Given the description of an element on the screen output the (x, y) to click on. 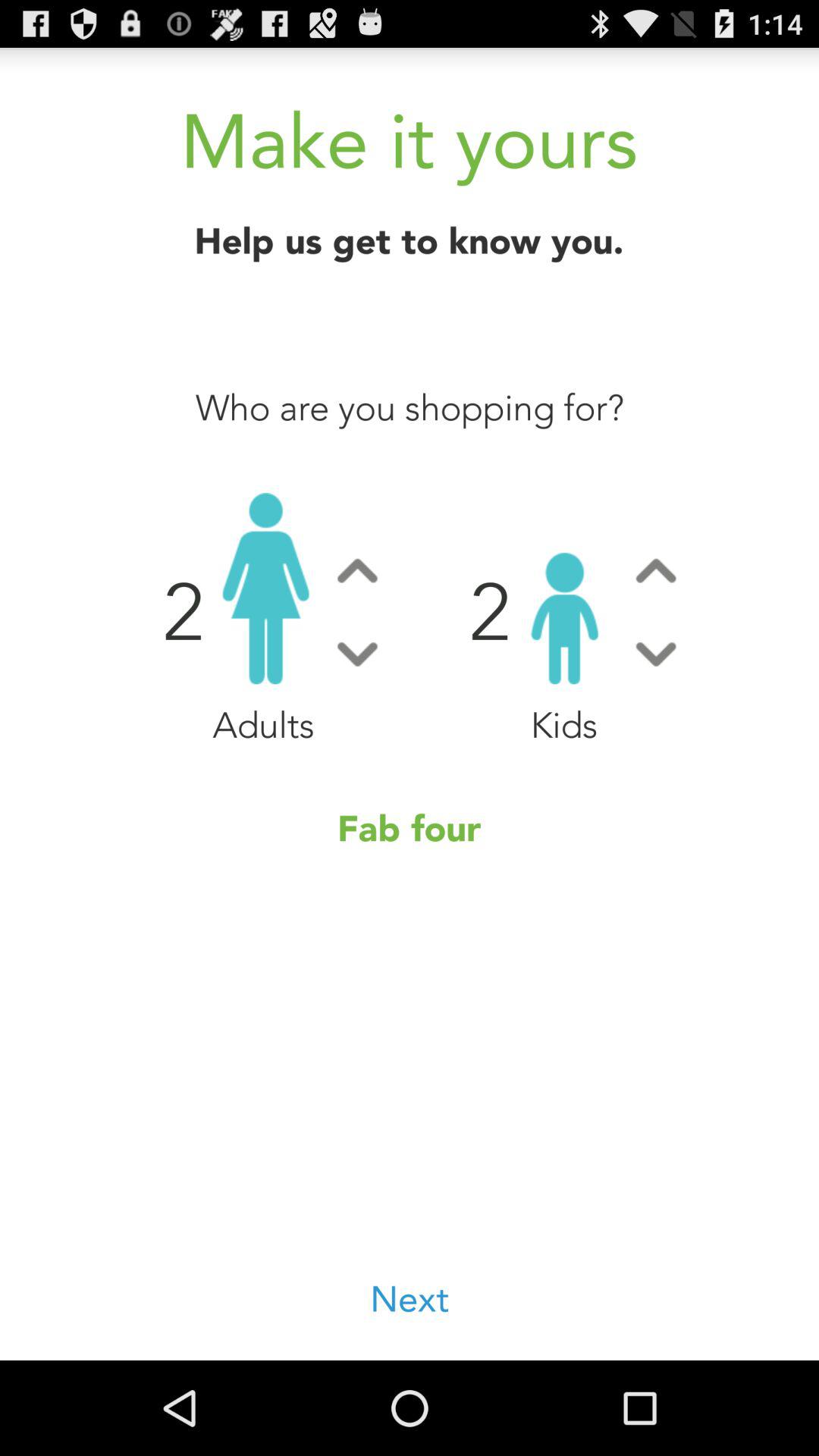
decrease button (357, 654)
